Given the description of an element on the screen output the (x, y) to click on. 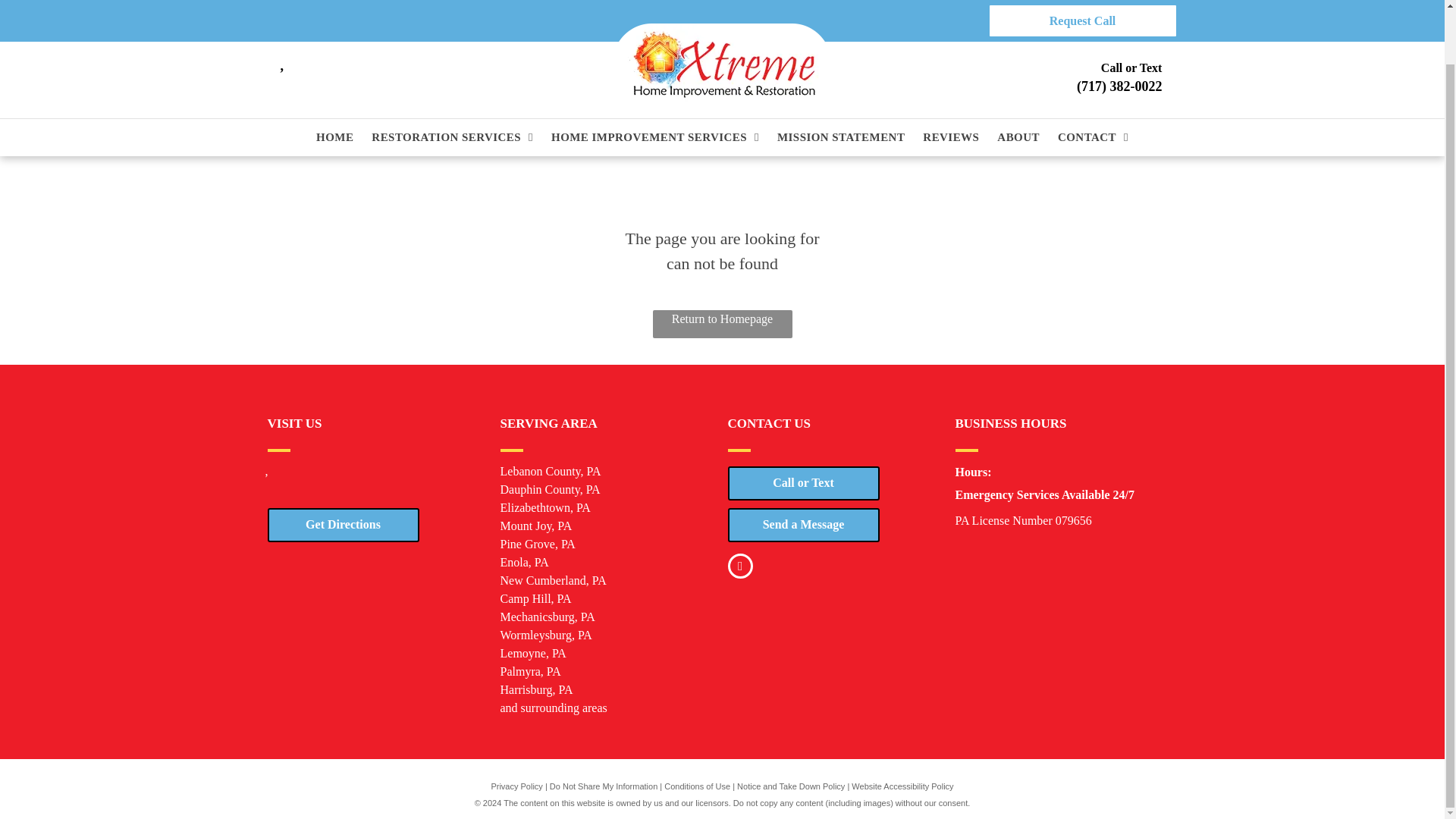
MISSION STATEMENT (840, 79)
Return to Homepage (722, 324)
Send a Message (803, 523)
Get Directions (342, 523)
Notice and Take Down Policy (790, 786)
Website Accessibility Policy (902, 786)
REVIEWS (950, 79)
Do Not Share My Information (604, 786)
RESTORATION SERVICES (451, 79)
Call or Text (803, 483)
